Given the description of an element on the screen output the (x, y) to click on. 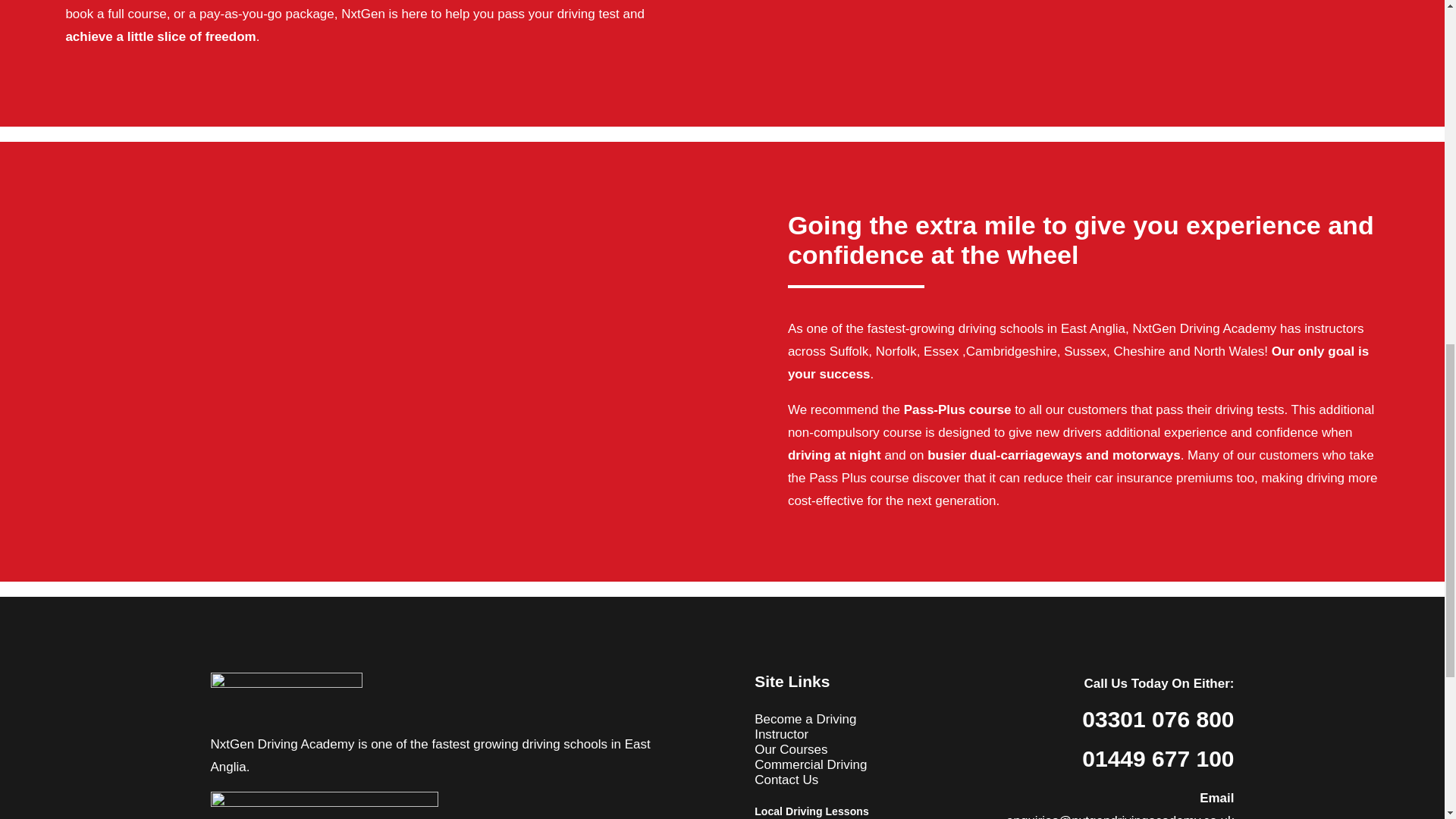
Become a Driving Instructor (805, 726)
Our Courses (790, 749)
Pass-Plus course (957, 409)
